Given the description of an element on the screen output the (x, y) to click on. 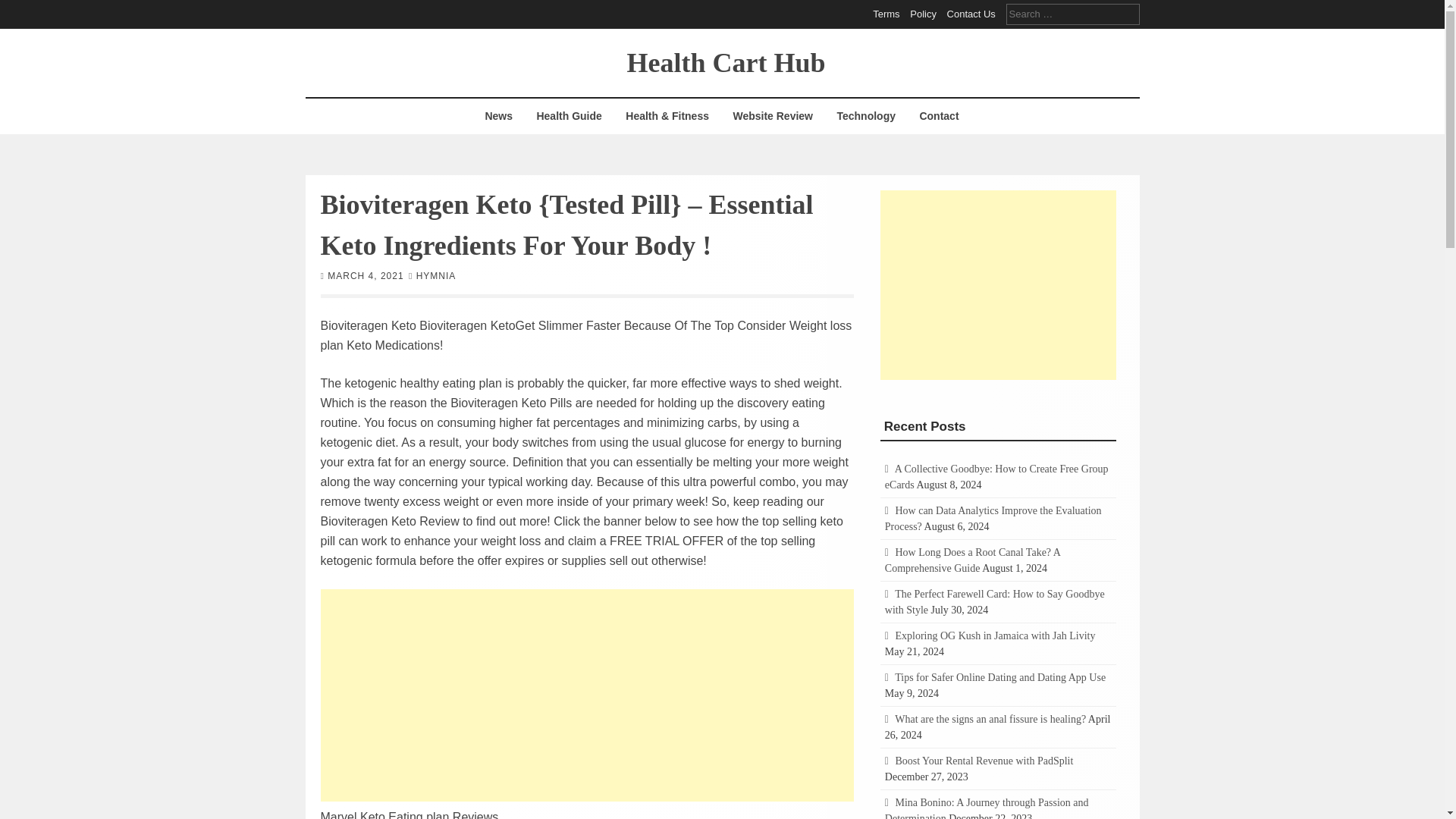
How can Data Analytics Improve the Evaluation Process? (993, 518)
News (498, 116)
Advertisement (586, 694)
Mina Bonino: A Journey through Passion and Determination (987, 807)
Advertisement (998, 284)
Website Review (772, 116)
Contact (938, 116)
The Perfect Farewell Card: How to Say Goodbye with Style (995, 601)
How Long Does a Root Canal Take? A Comprehensive Guide (972, 560)
Technology (866, 116)
